Given the description of an element on the screen output the (x, y) to click on. 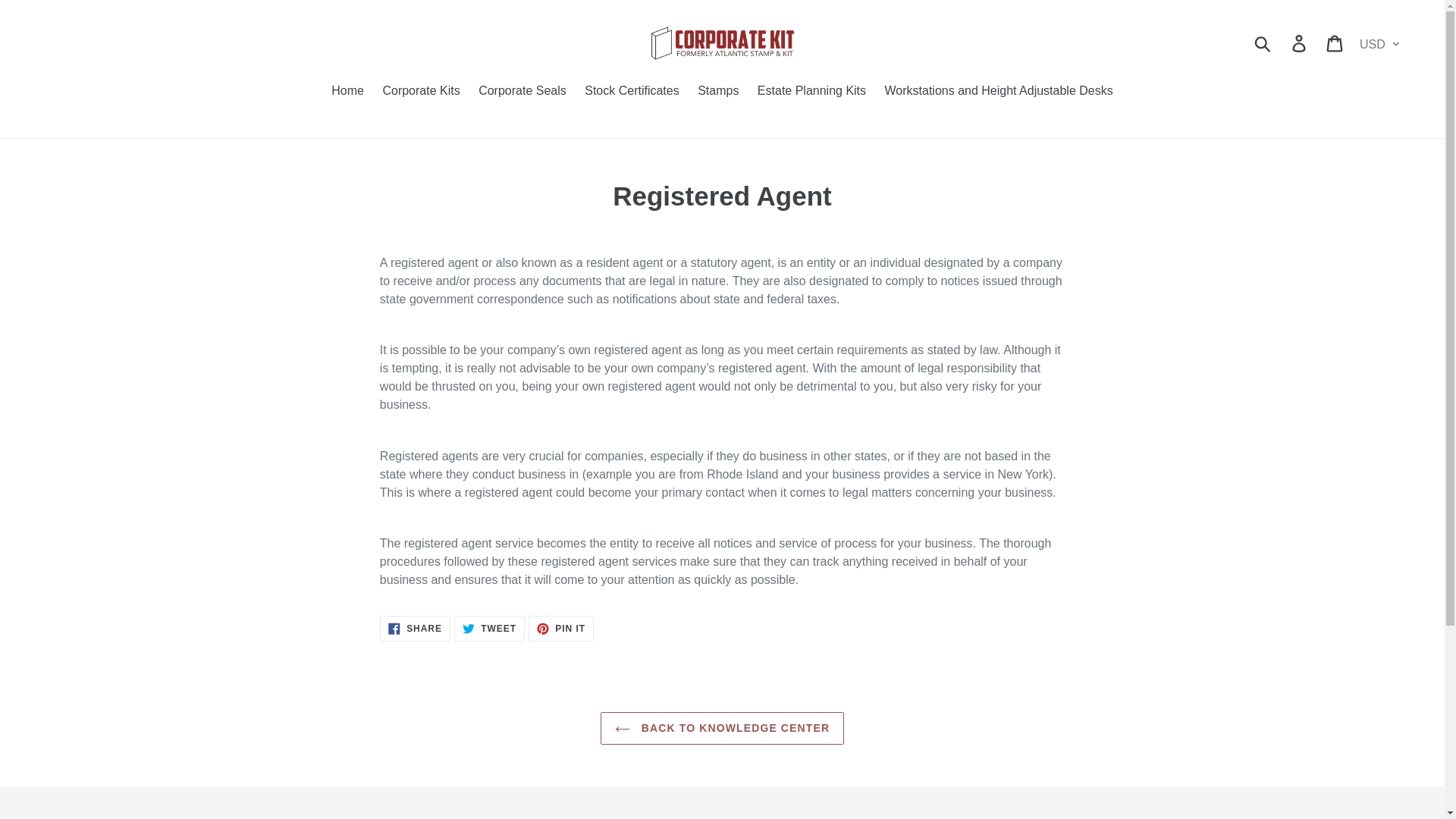
Submit (1263, 41)
BACK TO KNOWLEDGE CENTER (721, 727)
Estate Planning Kits (811, 91)
Stamps (717, 91)
Cart (561, 628)
Log in (414, 628)
Corporate Seals (1335, 41)
Home (1299, 41)
Stock Certificates (521, 91)
Workstations and Height Adjustable Desks (489, 628)
Corporate Kits (347, 91)
